Given the description of an element on the screen output the (x, y) to click on. 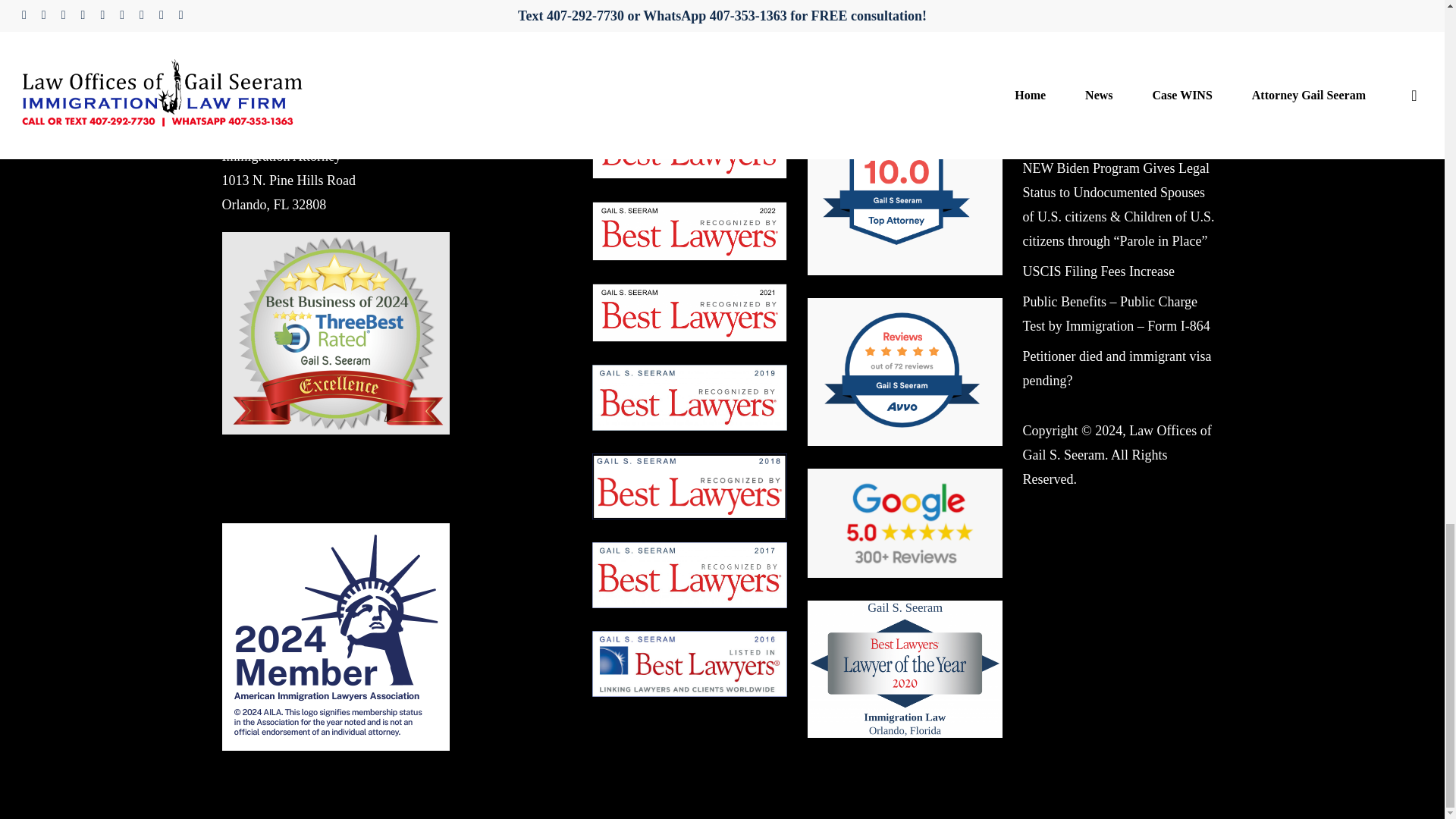
Petitioner died and immigrant visa pending? (1116, 368)
USCIS Filing Fees Increase (1097, 271)
